Given the description of an element on the screen output the (x, y) to click on. 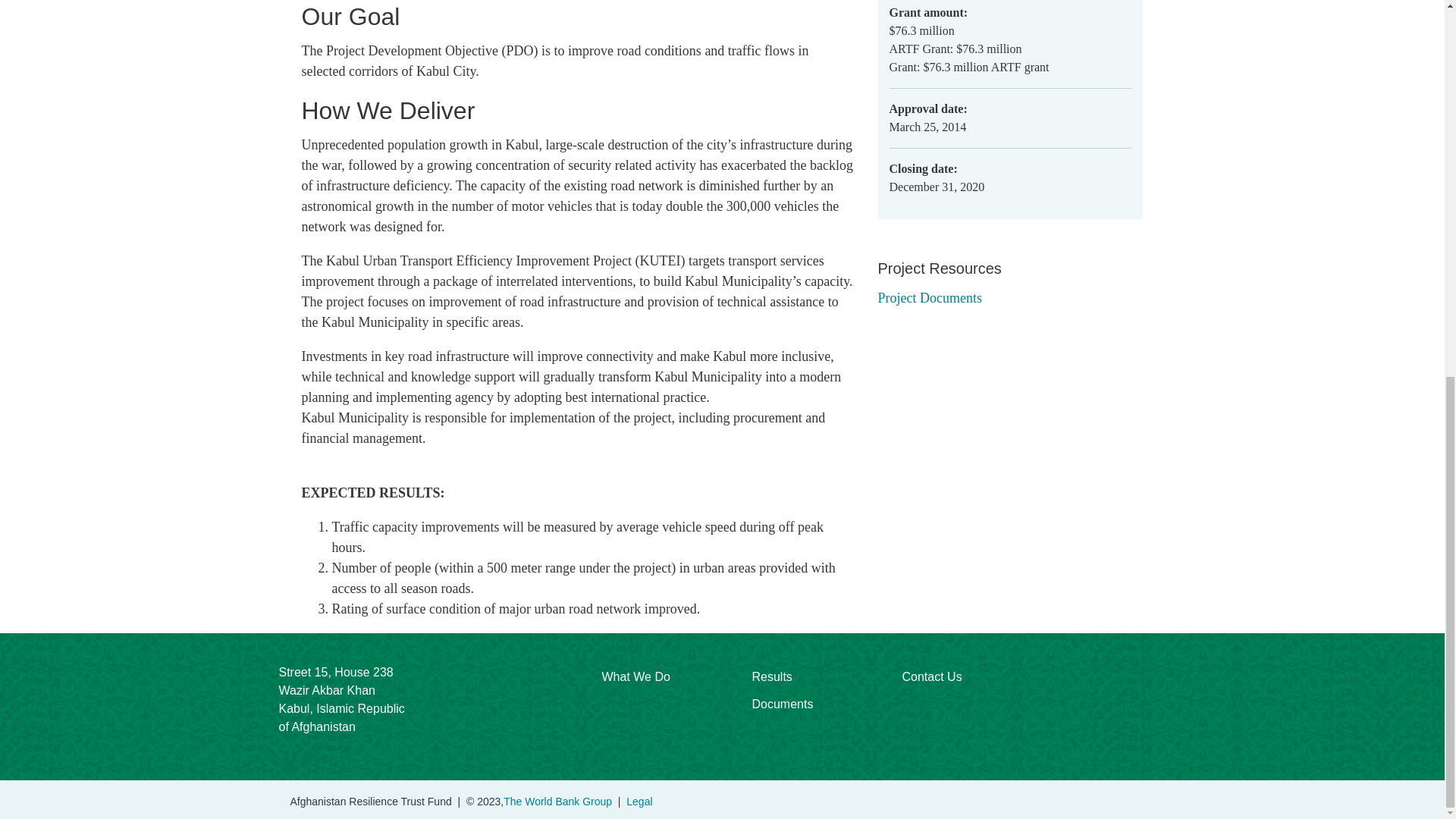
Project Documents (929, 297)
Contact Us (932, 677)
Legal (639, 801)
The World Bank Group (557, 801)
What We Do (635, 677)
Results (782, 677)
Documents (782, 704)
